Given the description of an element on the screen output the (x, y) to click on. 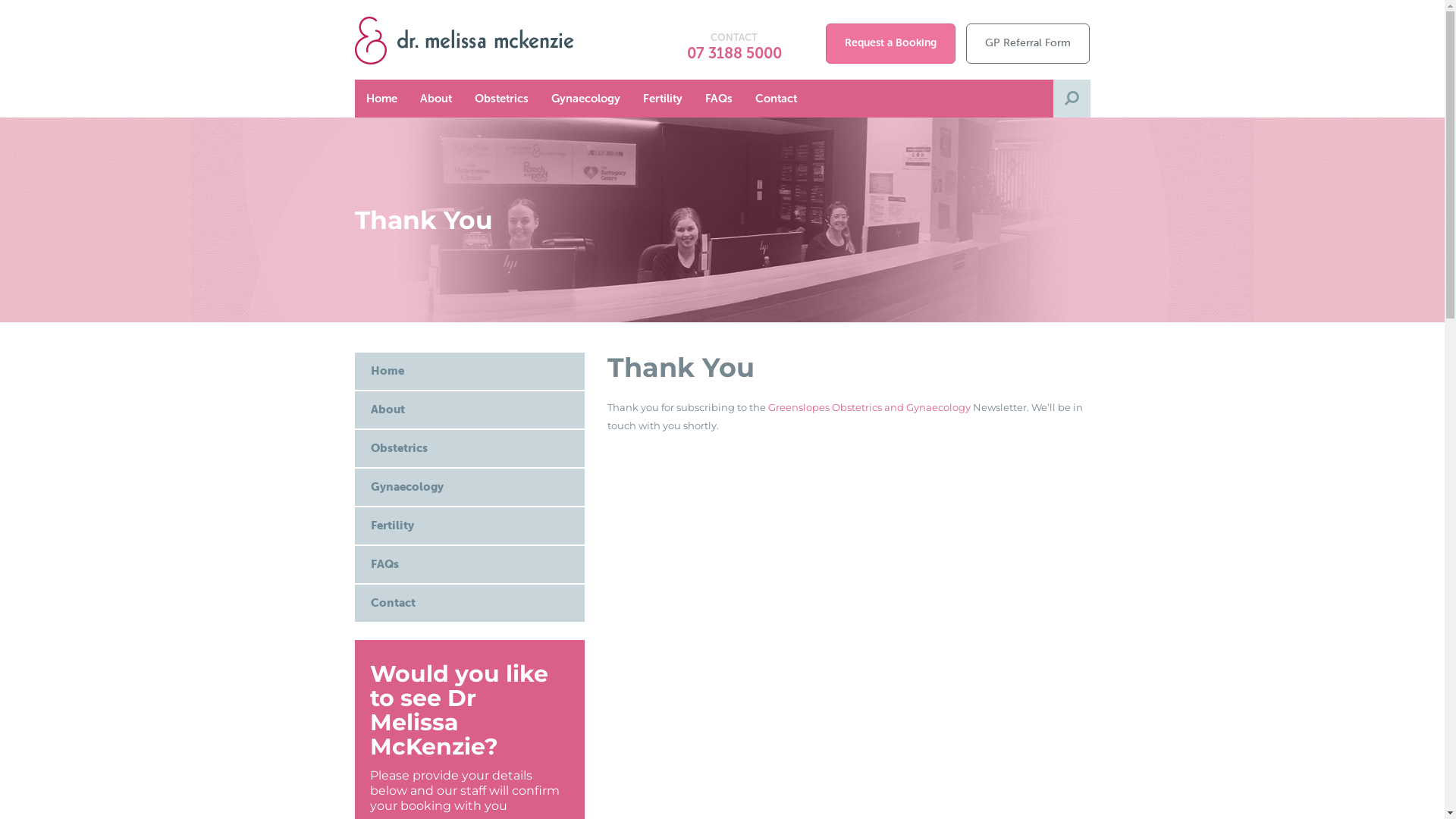
Contact Element type: text (469, 602)
Obstetrics Element type: text (500, 98)
About Element type: text (469, 409)
Gynaecology Element type: text (469, 486)
Contact Element type: text (775, 98)
Greenslopes Obstetrics and Gynaecology Element type: text (869, 407)
07 3188 5000 Element type: text (734, 52)
Dr Melissa McKenzie Element type: hover (468, 39)
Obstetrics Element type: text (469, 448)
About Element type: text (434, 98)
FAQs Element type: text (718, 98)
Fertility Element type: text (661, 98)
Home Element type: text (469, 370)
Gynaecology Element type: text (585, 98)
Request a Booking Element type: text (890, 43)
Fertility Element type: text (469, 525)
Home Element type: text (381, 98)
FAQs Element type: text (469, 564)
GP Referral Form Element type: text (1027, 43)
